Given the description of an element on the screen output the (x, y) to click on. 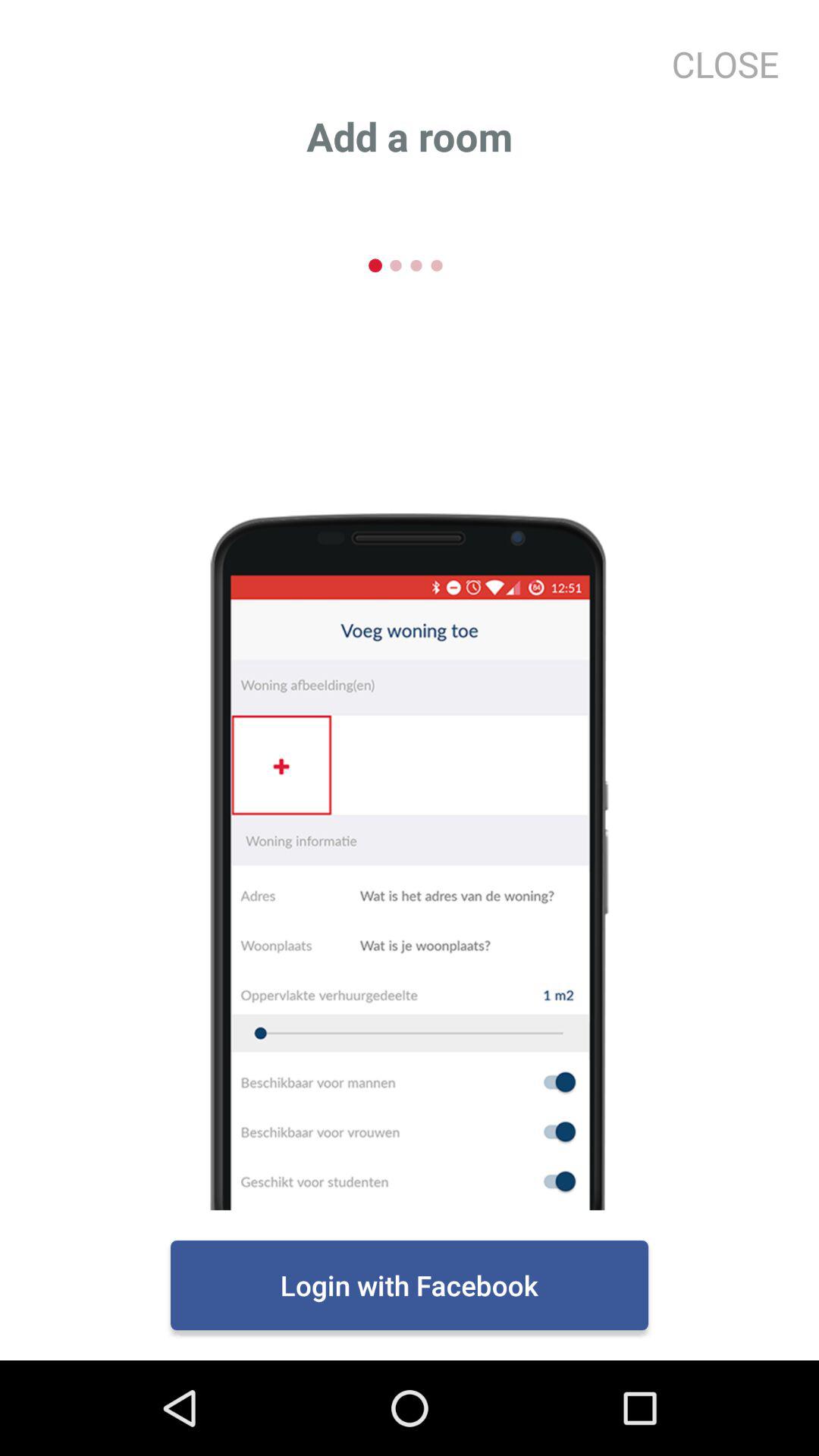
jump to the login with facebook item (409, 1285)
